Given the description of an element on the screen output the (x, y) to click on. 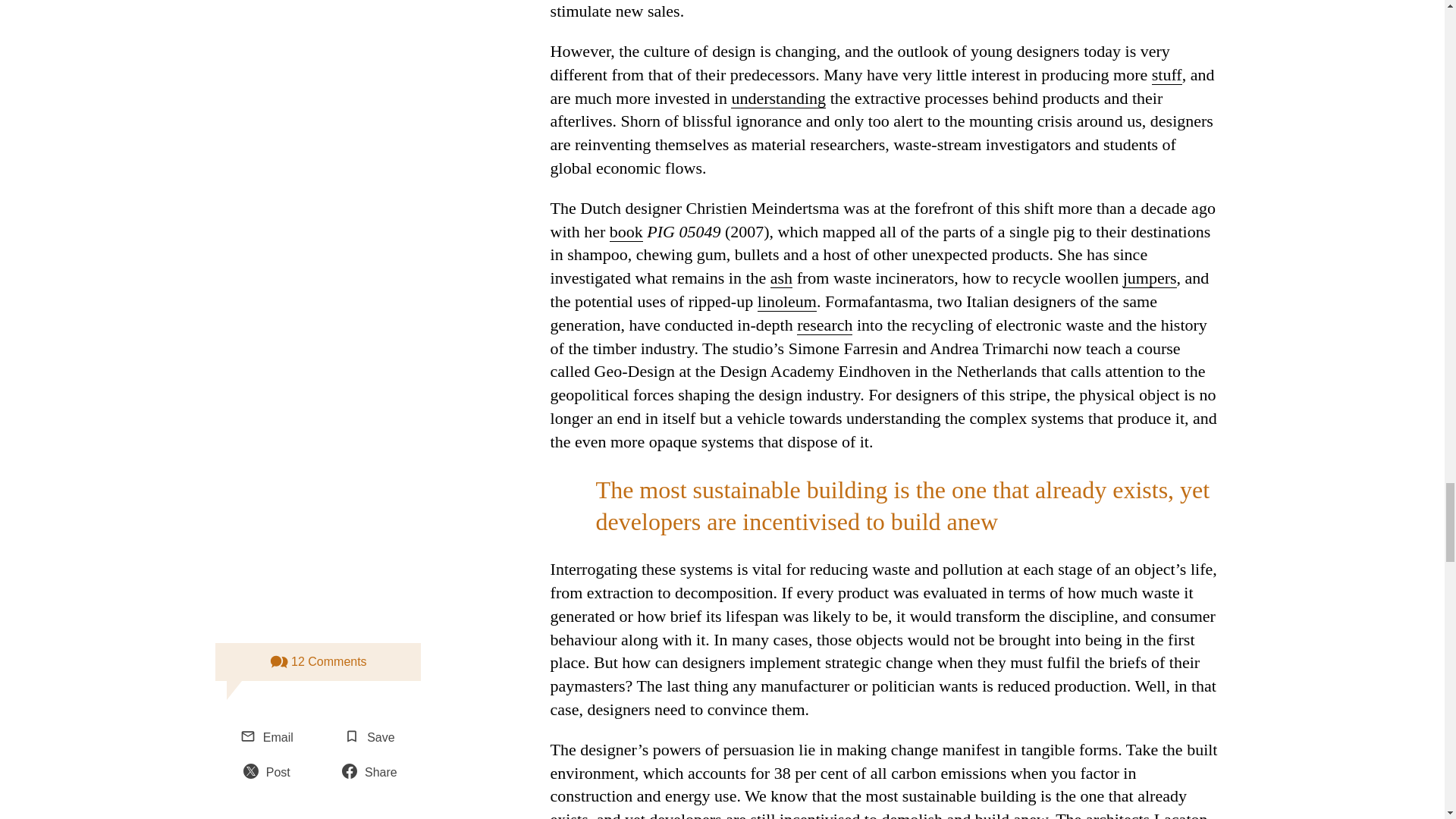
stuff (1166, 75)
